Given the description of an element on the screen output the (x, y) to click on. 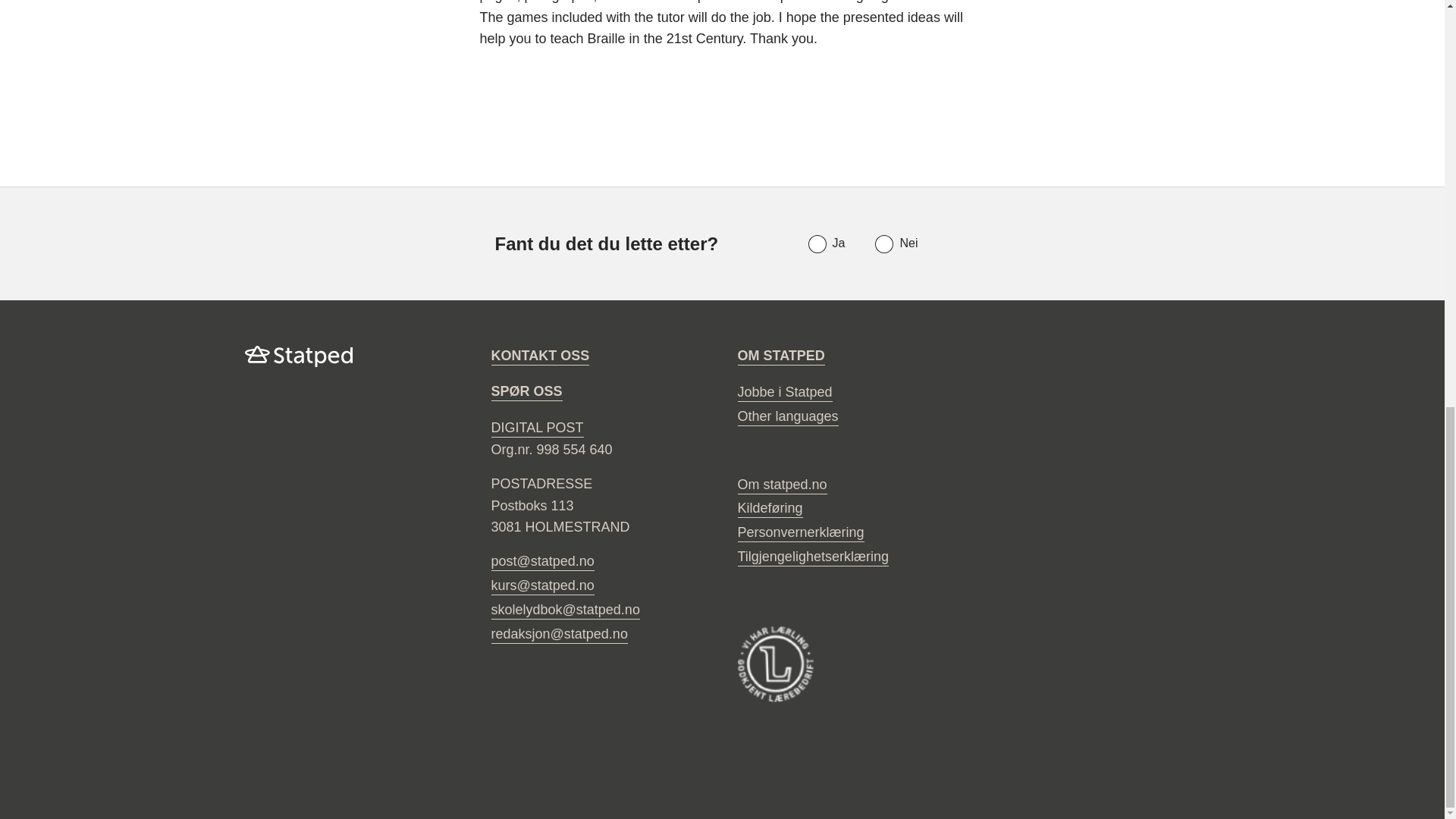
Om statped.no (781, 485)
Other languages (787, 416)
OM STATPED (780, 356)
Jobbe i Statped (783, 393)
DIGITAL POST (537, 428)
KONTAKT OSS (540, 356)
